Given the description of an element on the screen output the (x, y) to click on. 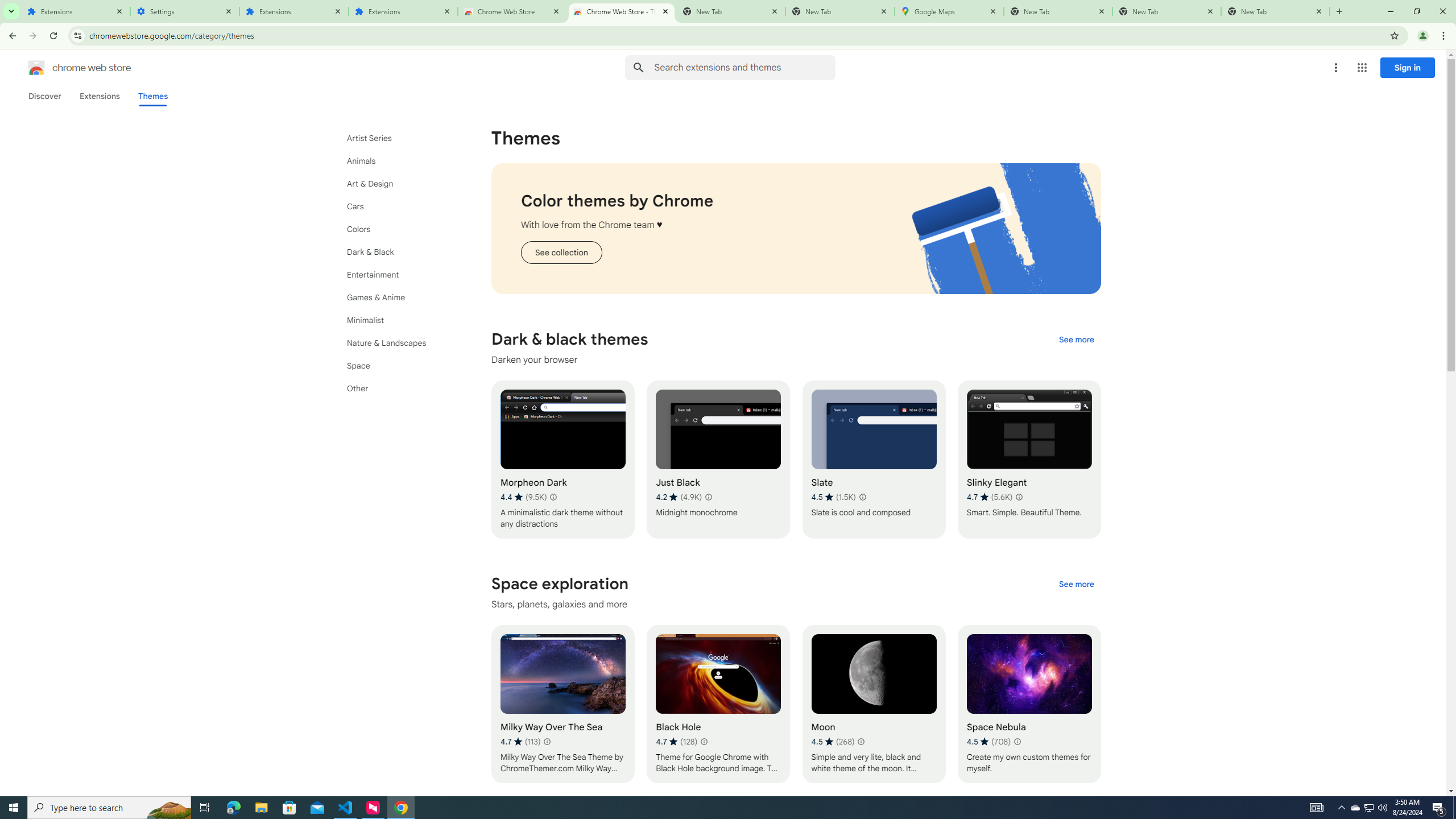
Art & Design (398, 182)
